Given the description of an element on the screen output the (x, y) to click on. 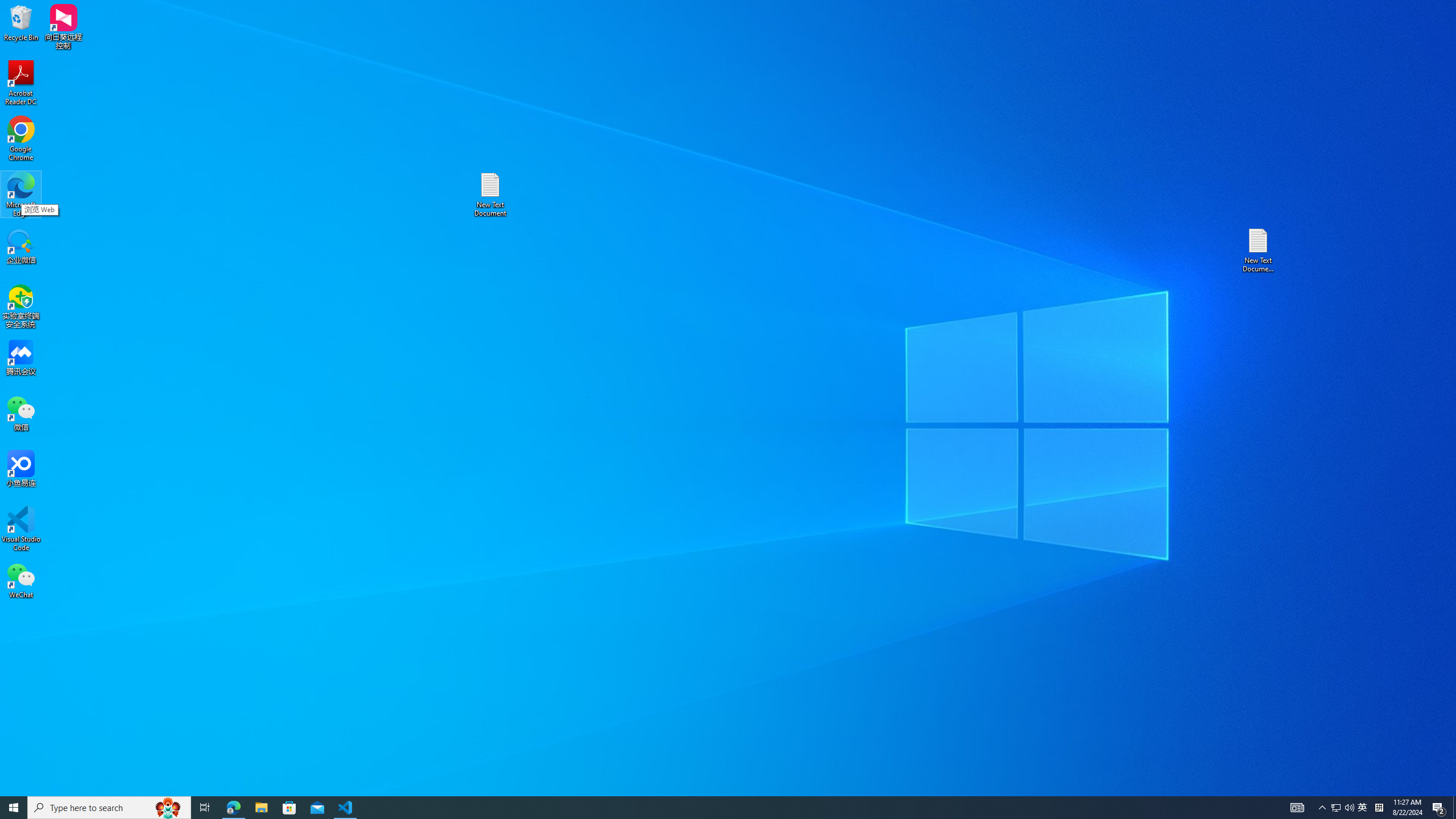
New Text Document (2) (1258, 250)
User Promoted Notification Area (1342, 807)
Notification Chevron (1322, 807)
AutomationID: 4105 (1297, 807)
Tray Input Indicator - Chinese (Simplified, China) (1378, 807)
Recycle Bin (21, 22)
Show desktop (1454, 807)
Q2790: 100% (1349, 807)
Google Chrome (21, 138)
Task View (204, 807)
Microsoft Edge (21, 194)
New Text Document (1335, 807)
